Given the description of an element on the screen output the (x, y) to click on. 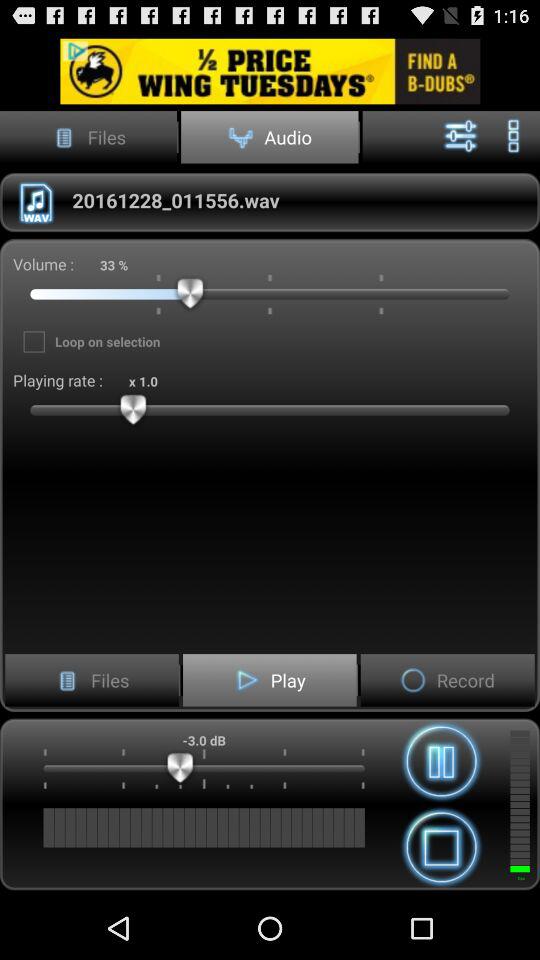
go to this advertised product (270, 70)
